Given the description of an element on the screen output the (x, y) to click on. 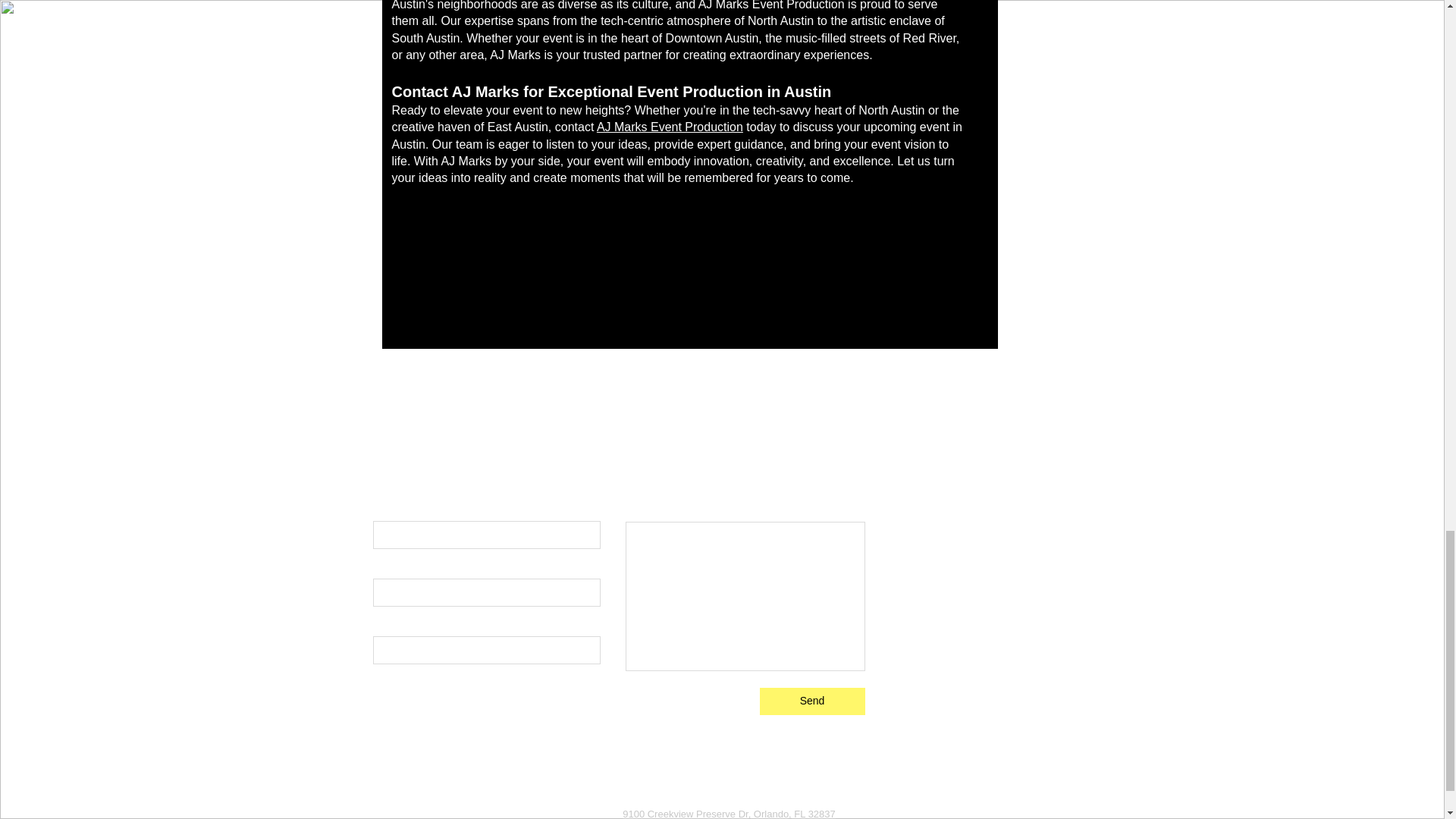
AJ Marks Event Production (669, 126)
9100 Creekview Preserve Dr, Orlando, FL 32837 (729, 813)
Send (812, 700)
